Given the description of an element on the screen output the (x, y) to click on. 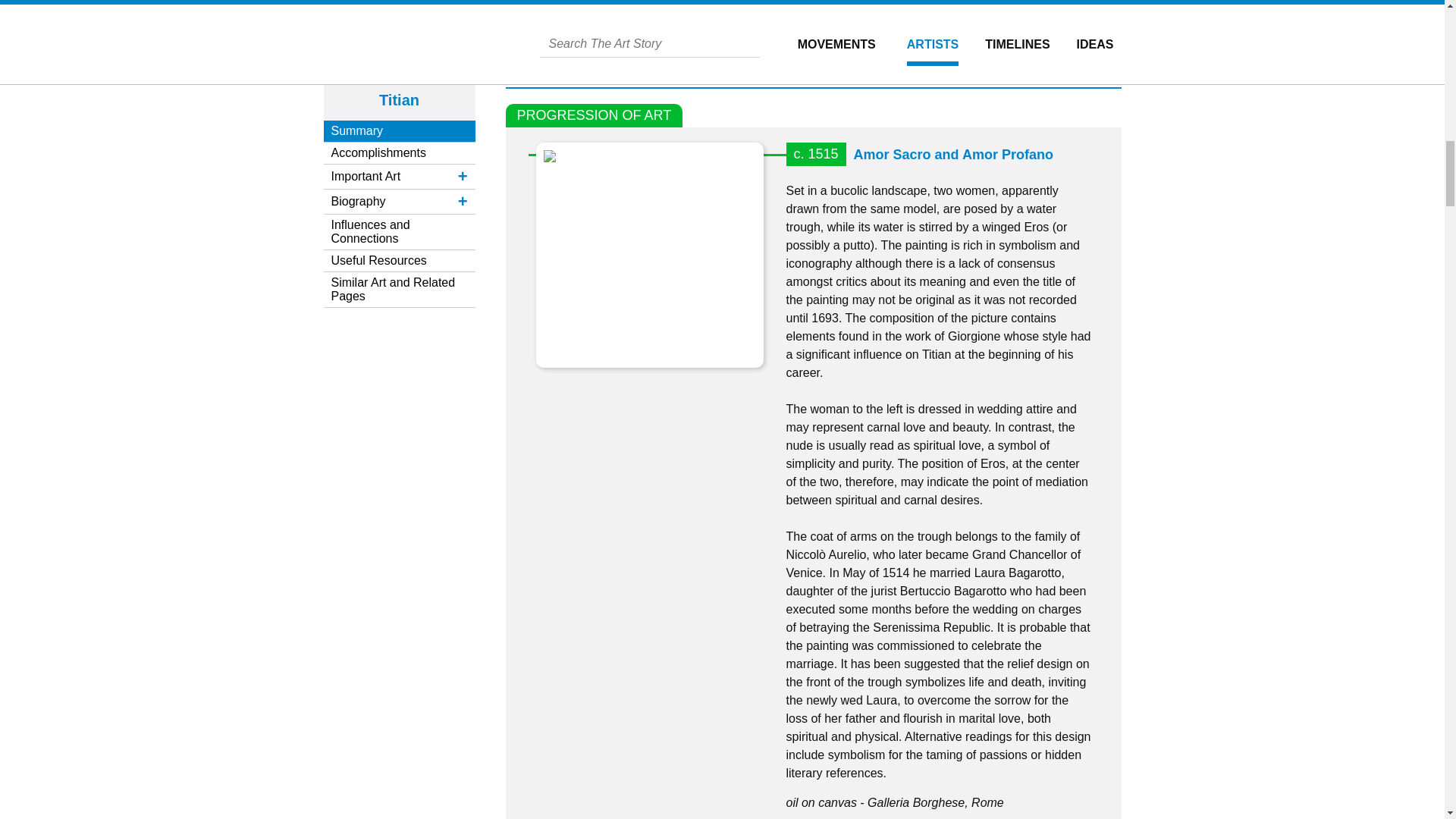
Read full biography (692, 5)
Read artistic legacy (933, 5)
